Given the description of an element on the screen output the (x, y) to click on. 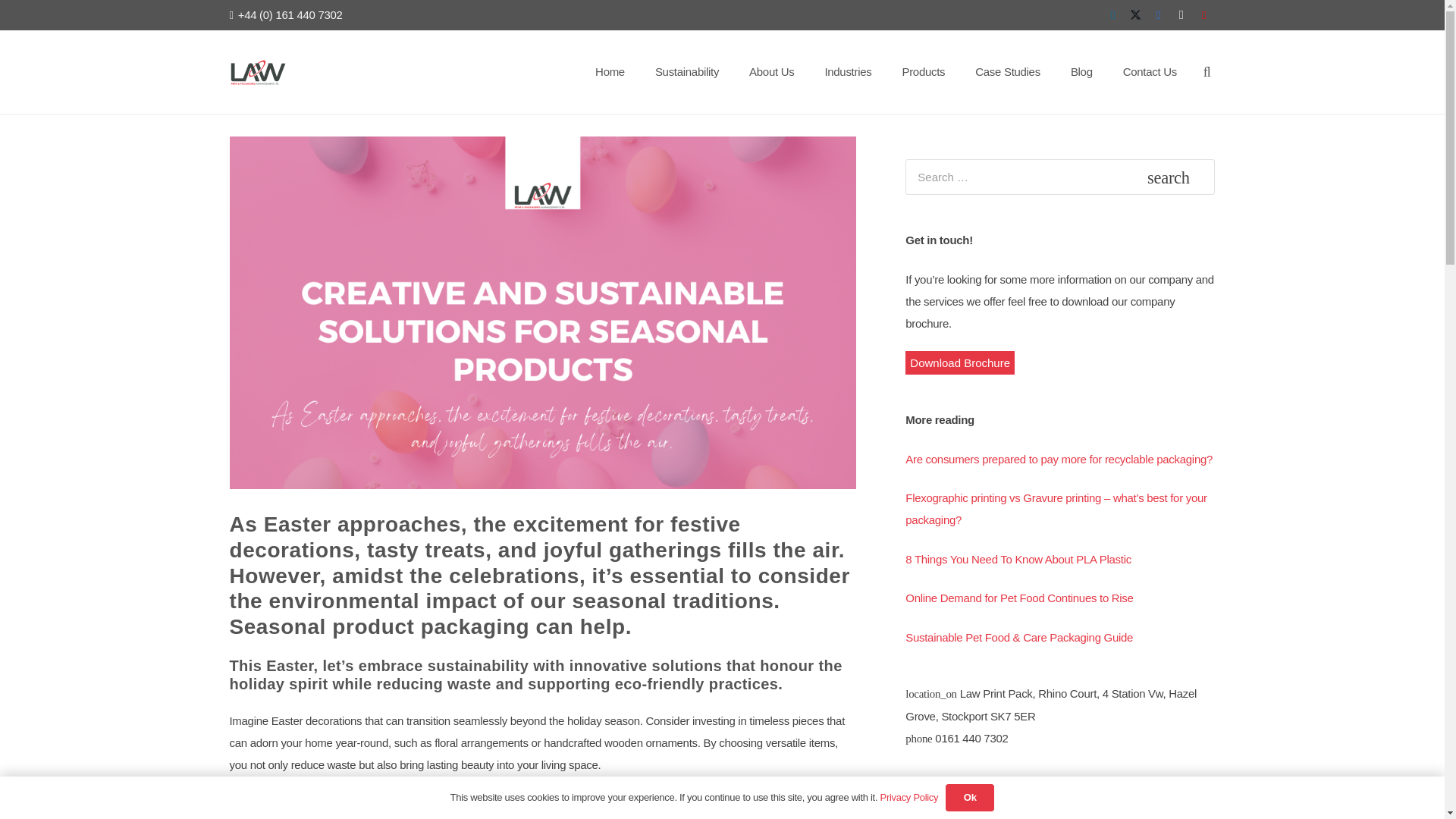
About Us (771, 71)
YouTube (1203, 15)
Blog (1081, 71)
Case Studies (1007, 71)
Sustainability (686, 71)
Products (922, 71)
Twitter (1135, 15)
Facebook (1158, 15)
Instagram (1180, 15)
Industries (847, 71)
Home (609, 71)
LinkedIn (1112, 15)
Contact Us (1150, 71)
